Given the description of an element on the screen output the (x, y) to click on. 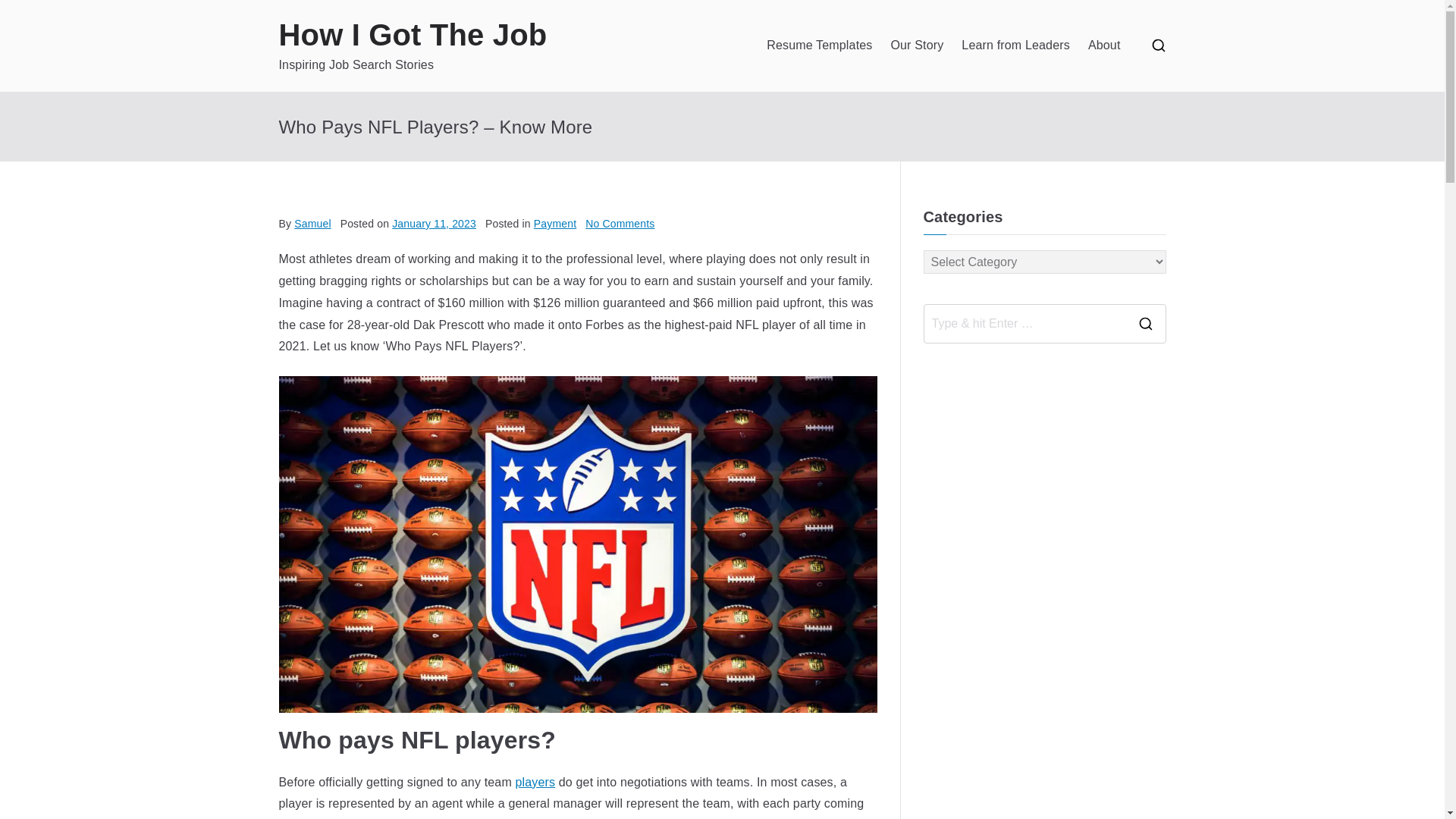
Learn from Leaders (1015, 45)
Search (26, 18)
Payment (555, 223)
About (1104, 45)
Our Story (916, 45)
How I Got The Job (413, 34)
Search for: (1024, 323)
Samuel (312, 223)
January 11, 2023 (433, 223)
Search (27, 13)
Resume Templates (819, 45)
players (534, 781)
